Given the description of an element on the screen output the (x, y) to click on. 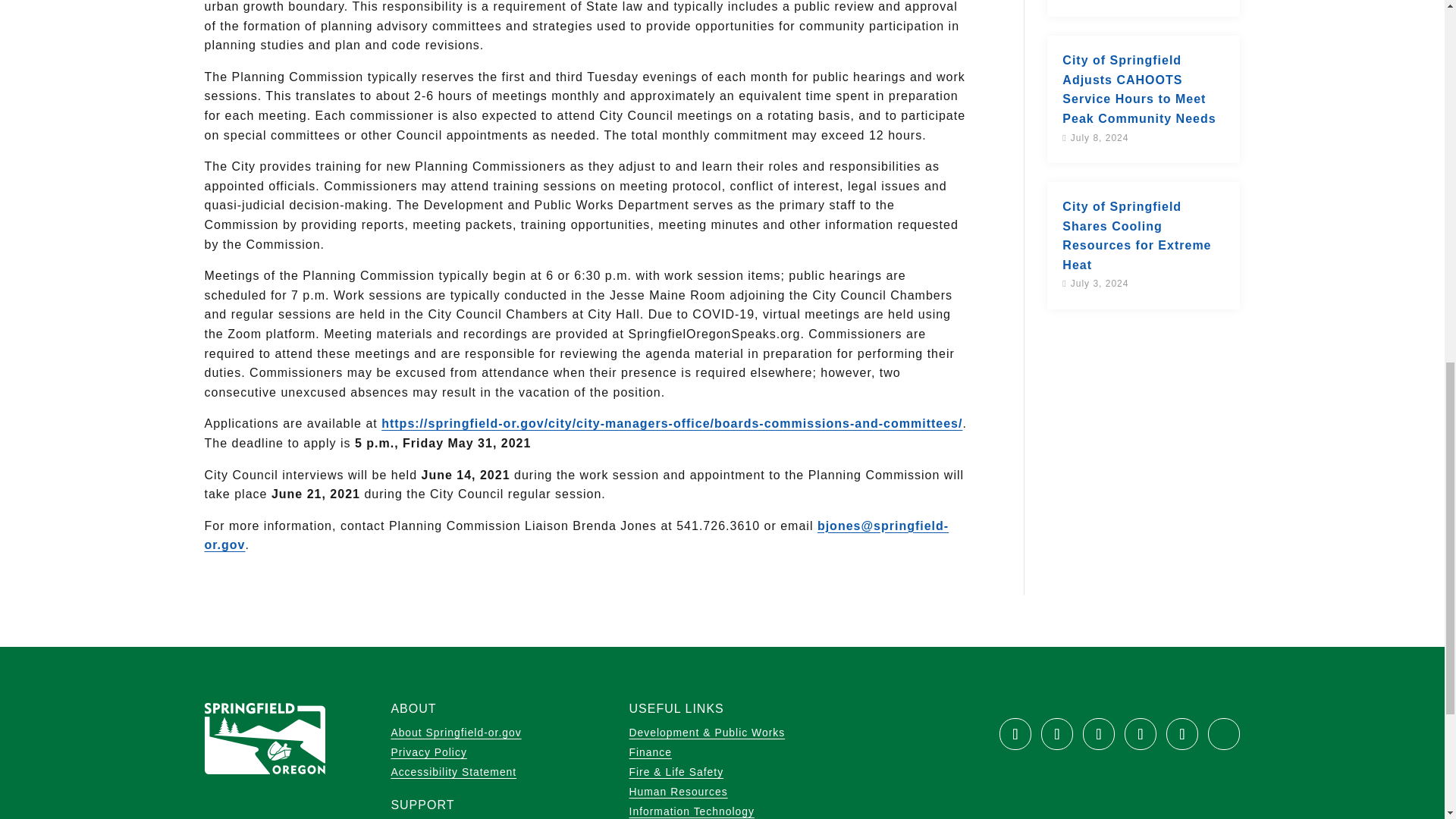
Follow on X (1057, 734)
Follow on Facebook (1014, 734)
Follow on Youtube (1099, 734)
logo-SpringfieldOregon-white (264, 737)
Follow on LinkedIn (1182, 734)
Follow on Nextdoor (1224, 734)
Follow on Instagram (1140, 734)
